Given the description of an element on the screen output the (x, y) to click on. 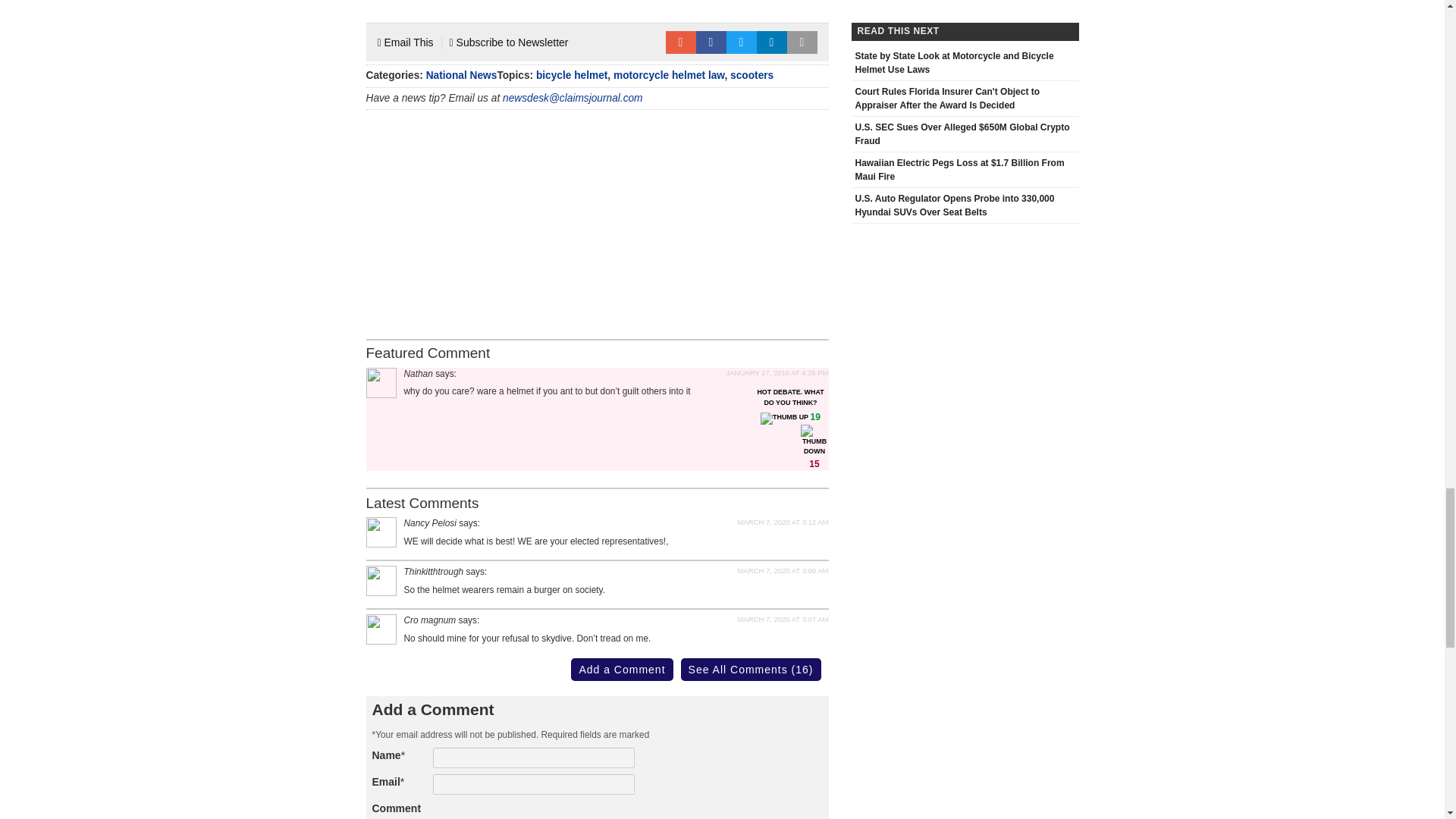
Print Article (801, 42)
Subscribe to Newsletter (509, 42)
Share on LinkedIn. (772, 42)
Email to a friend (680, 42)
Thumb up (784, 418)
Share on Twitter. (741, 42)
Email This (405, 42)
Post to Facebook. (710, 42)
